Given the description of an element on the screen output the (x, y) to click on. 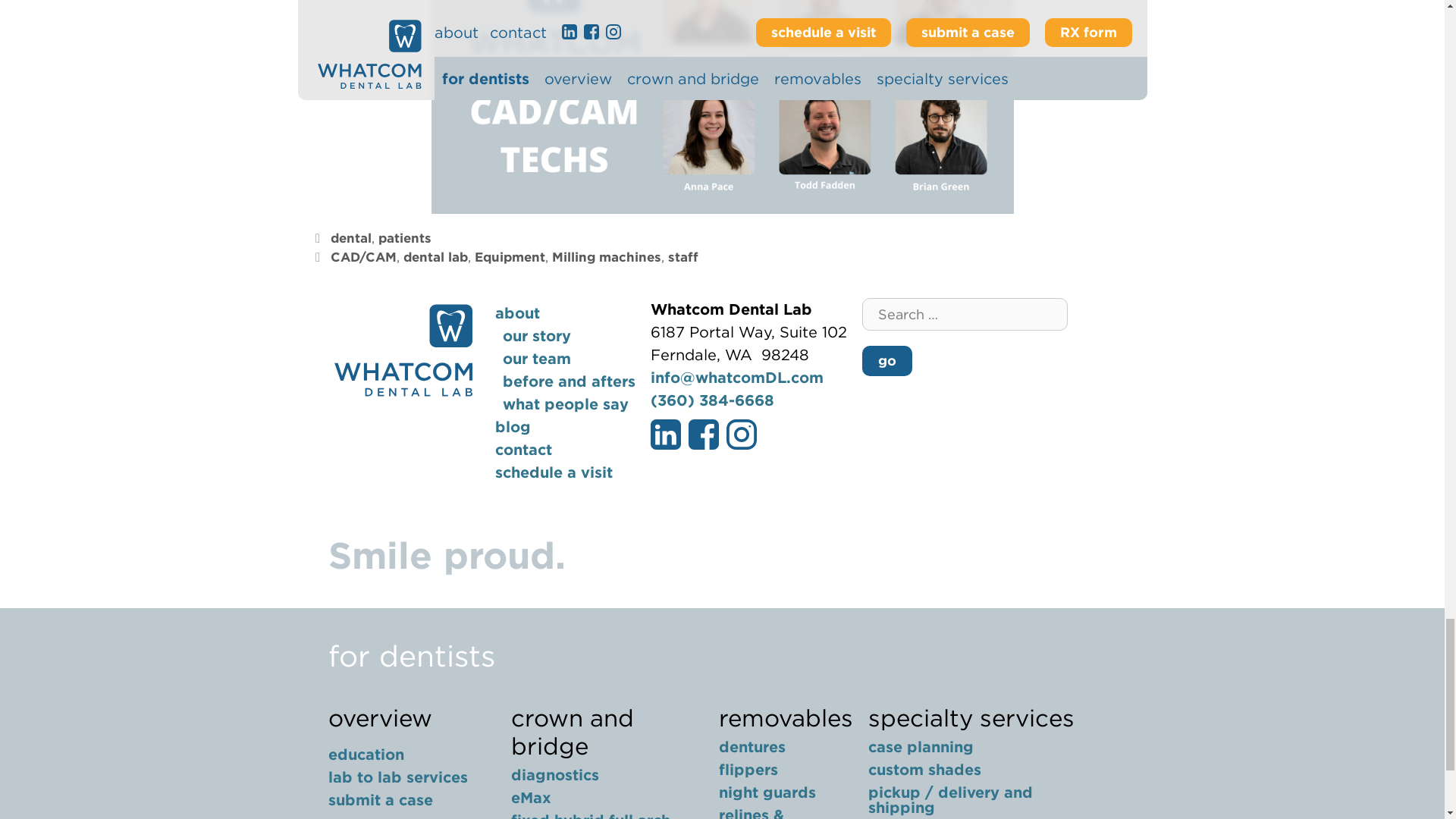
 go (886, 360)
Search for: (964, 313)
 go (886, 360)
